Given the description of an element on the screen output the (x, y) to click on. 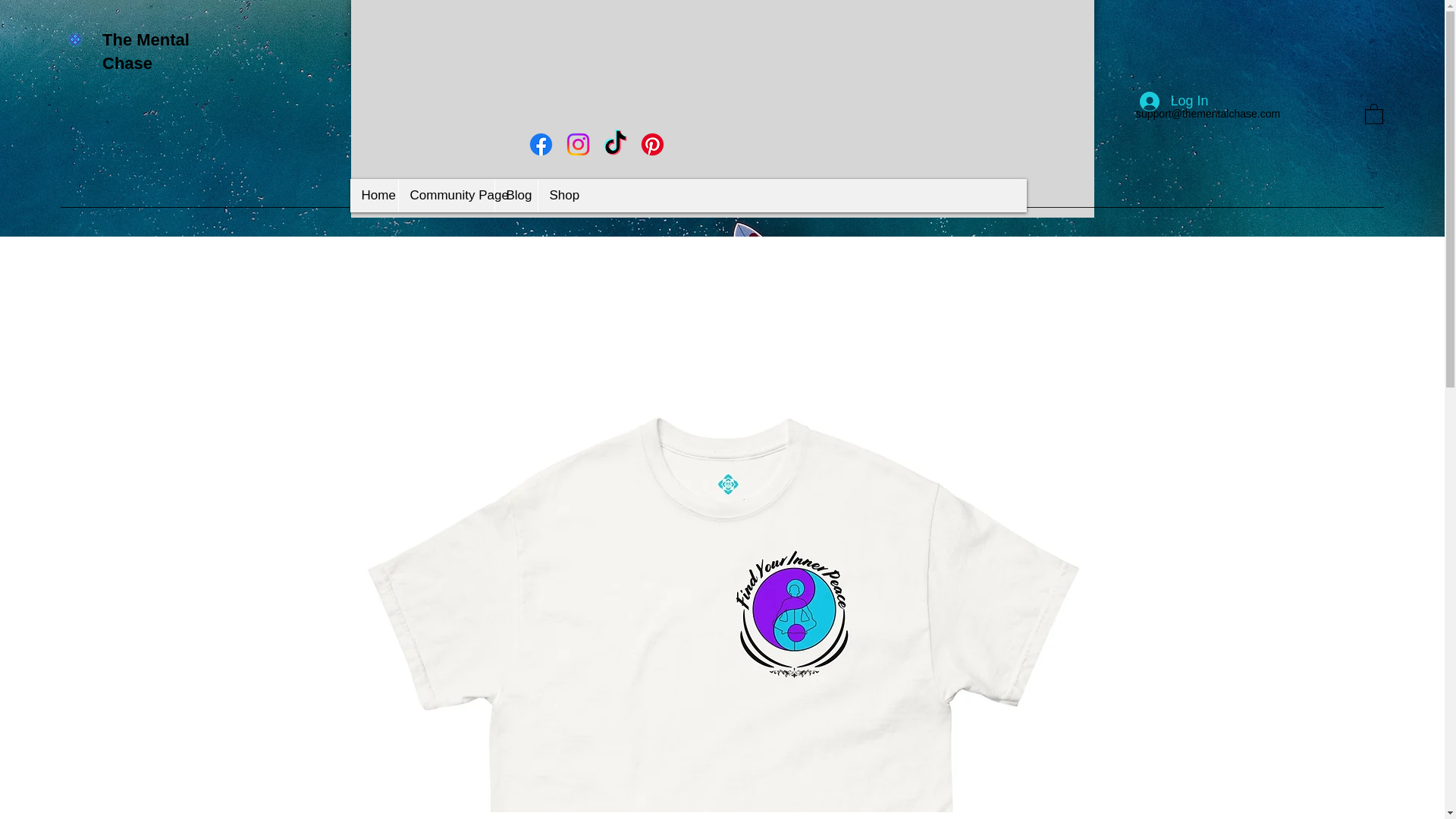
Community Page (445, 195)
Home (373, 195)
Log In (1173, 101)
Blog (516, 195)
Shop (558, 195)
The Mental Chase (145, 51)
